Given the description of an element on the screen output the (x, y) to click on. 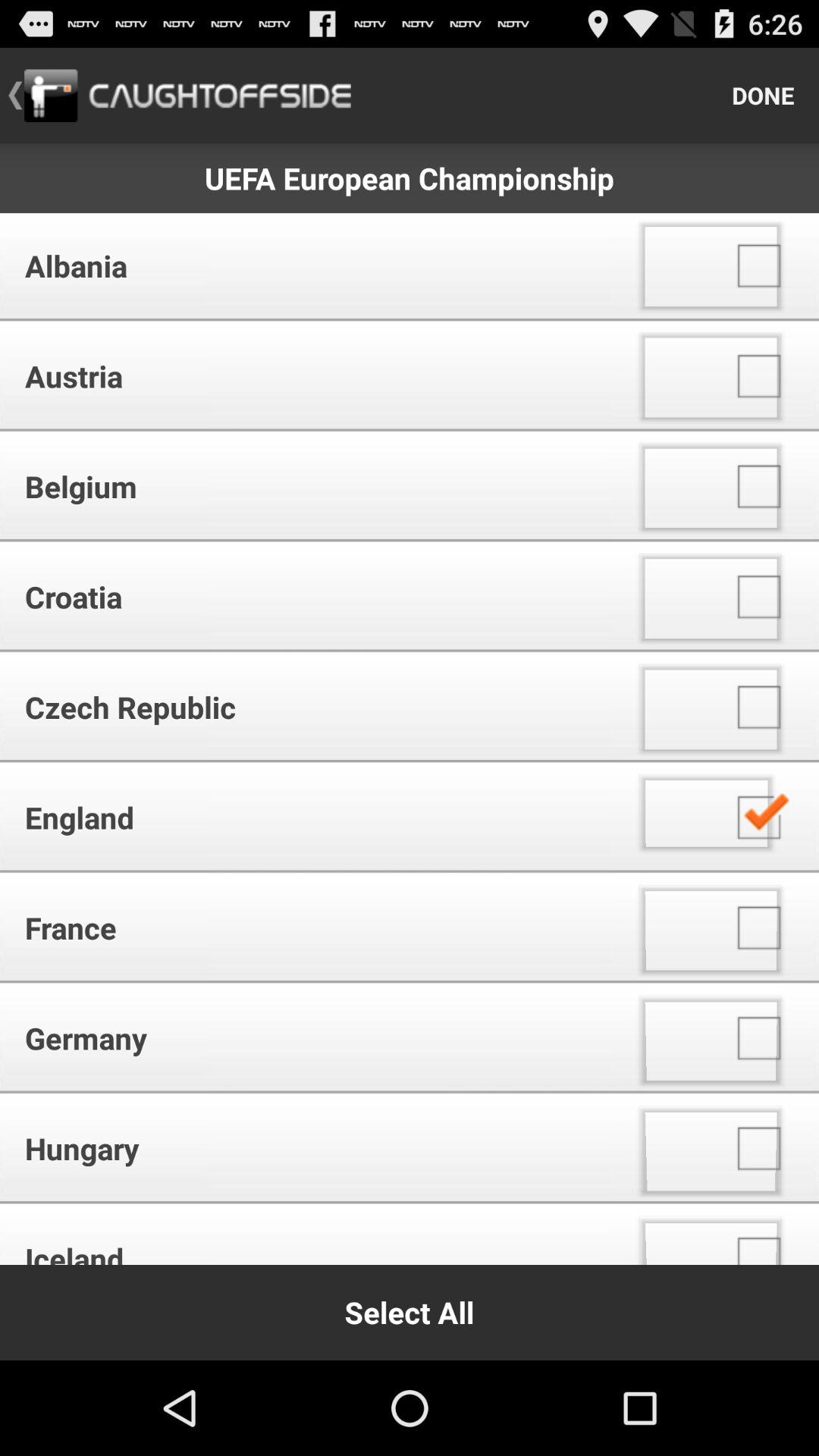
select the item above the iceland (311, 1148)
